Given the description of an element on the screen output the (x, y) to click on. 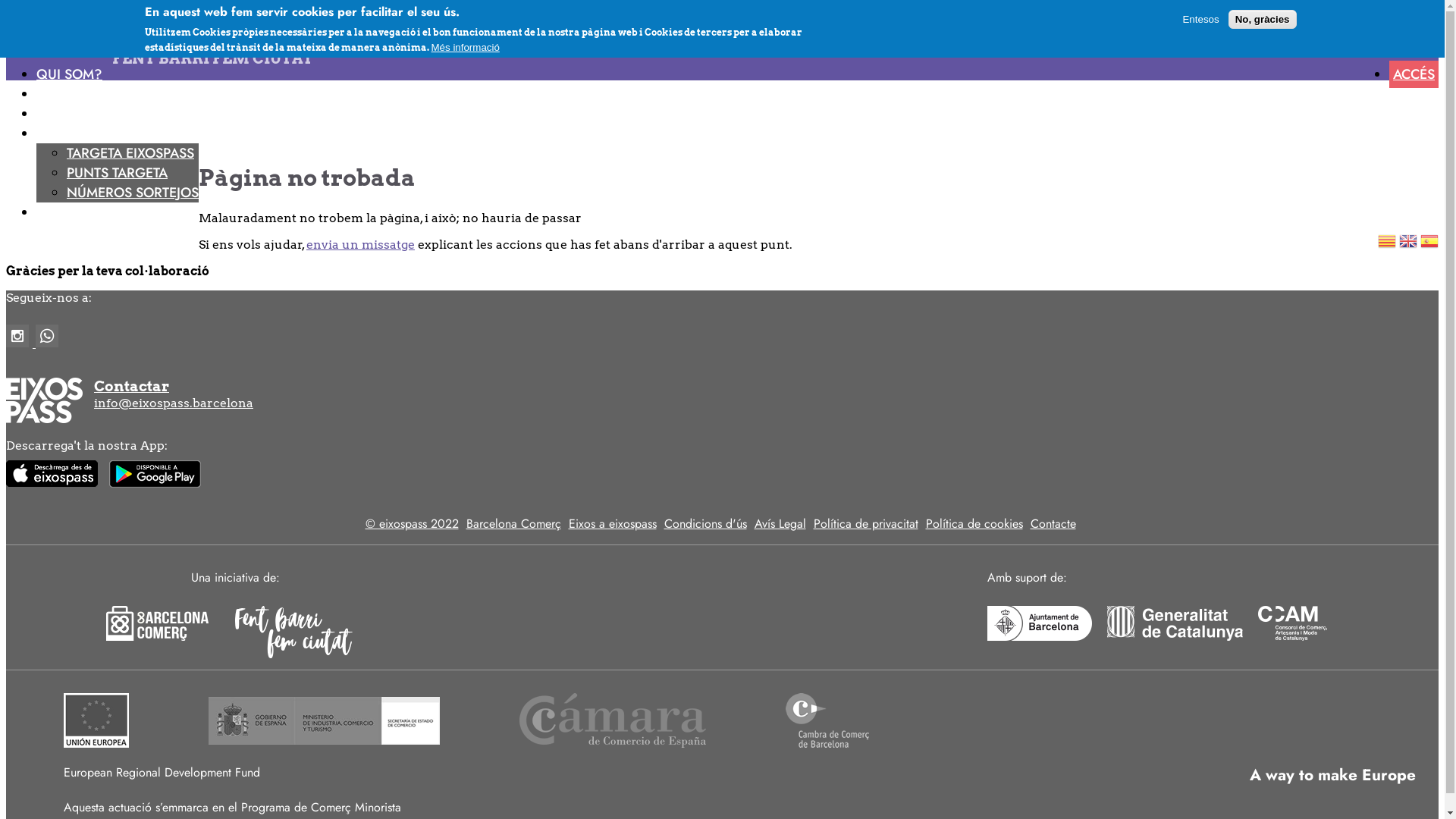
Eixos a eixospass Element type: text (612, 523)
L'APARADOR Element type: text (75, 91)
Catalan Element type: hover (1386, 243)
Contactar Element type: text (722, 386)
TARGETA EIXOSPASS Element type: text (130, 153)
Spanish Element type: hover (1429, 243)
Contacte Element type: text (1052, 523)
Inici Element type: hover (54, 41)
CERCAR Element type: text (61, 209)
PUNTS TARGETA Element type: text (116, 172)
TARGETA Element type: text (63, 131)
Toggle navigation Element type: text (148, 42)
English Element type: hover (1408, 243)
info@eixospass.barcelona Element type: text (173, 402)
Entesos Element type: text (1200, 19)
QUI SOM? Element type: text (69, 71)
envia un missatge Element type: text (360, 244)
